Given the description of an element on the screen output the (x, y) to click on. 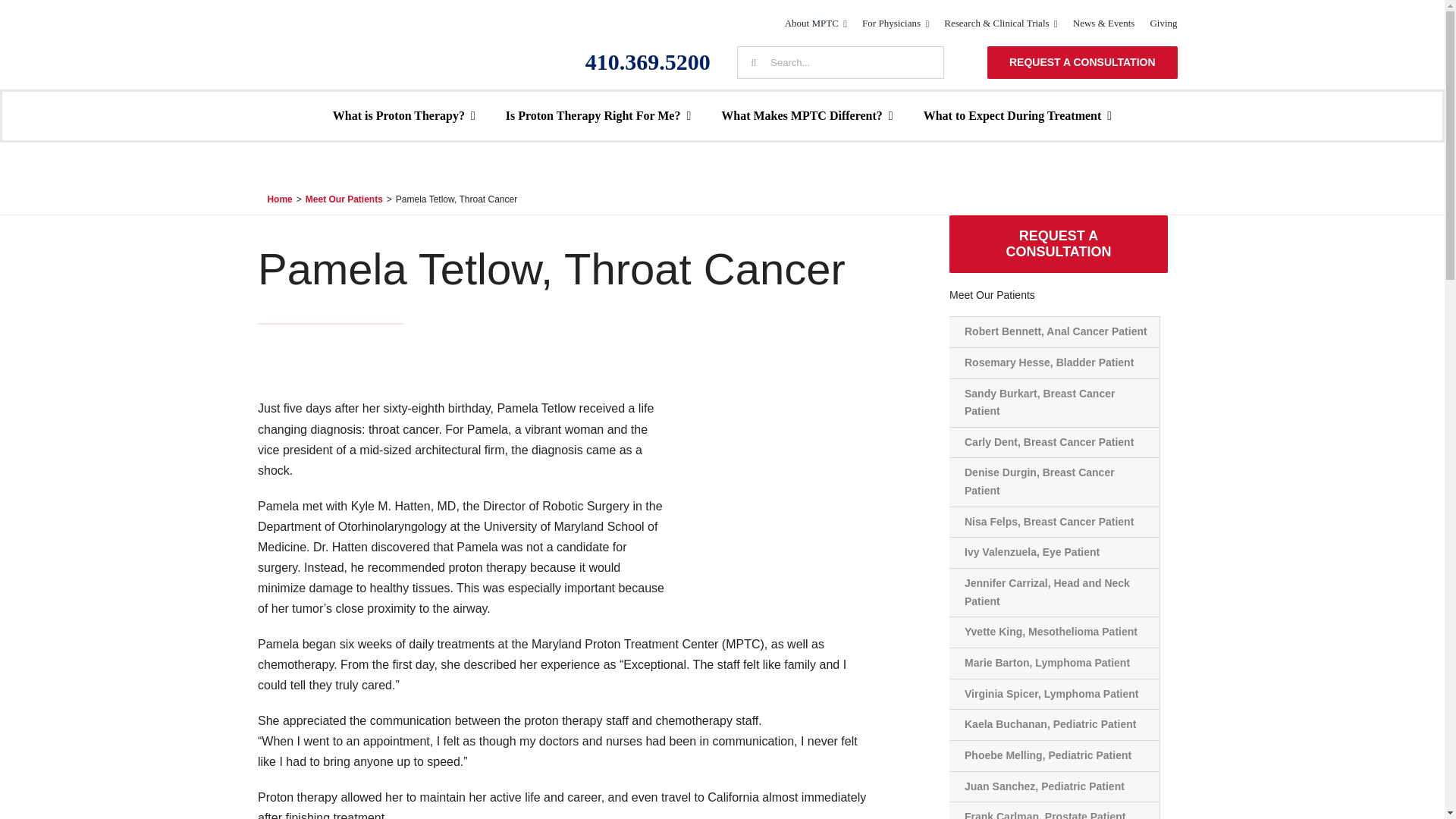
What is Proton Therapy? (404, 116)
410.369.5200 (647, 61)
About MPTC (815, 23)
For Physicians (894, 23)
REQUEST A CONSULTATION (1082, 61)
Is Proton Therapy Right For Me? (598, 116)
